Given the description of an element on the screen output the (x, y) to click on. 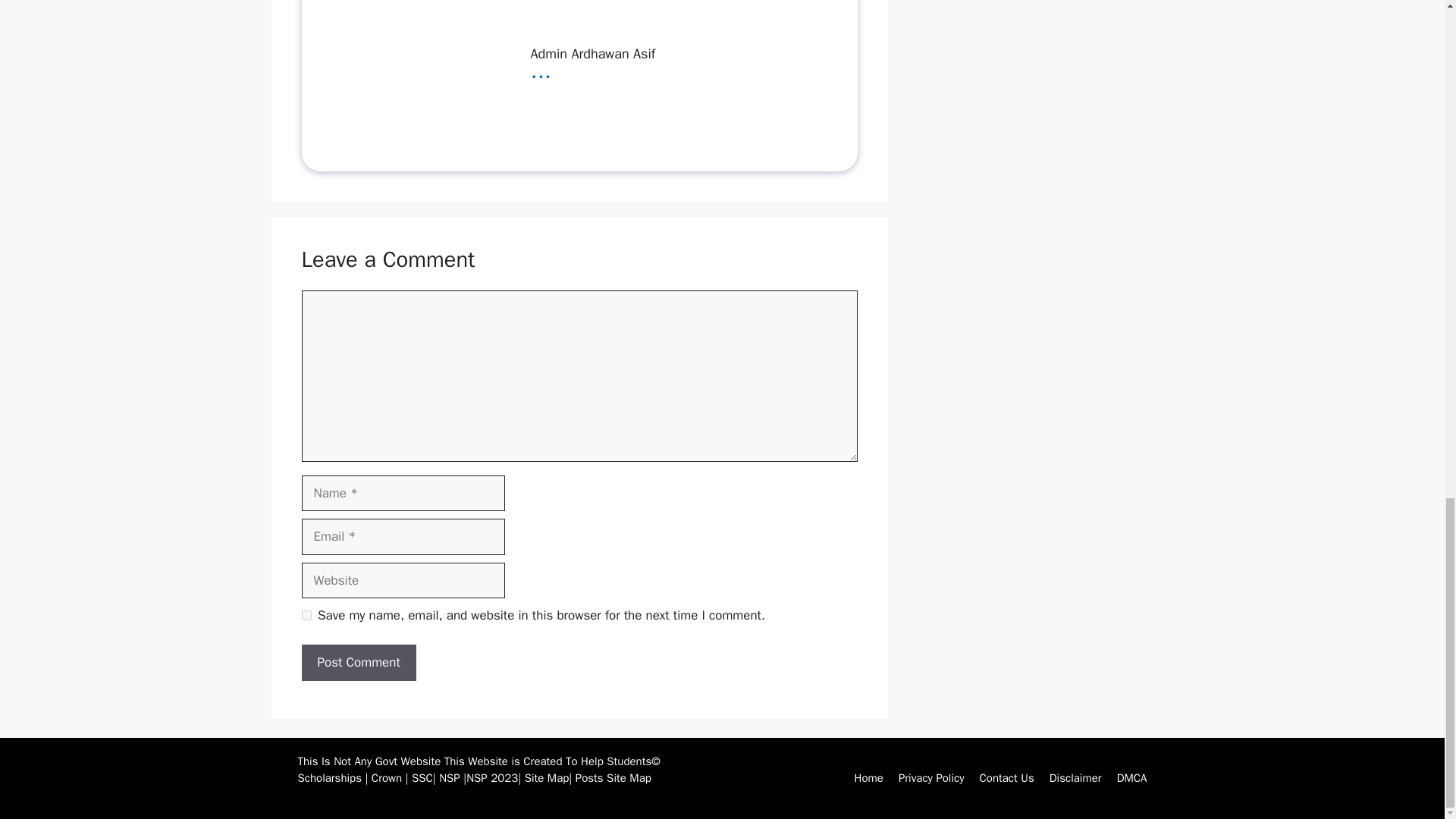
Post Comment (358, 662)
Privacy Policy (930, 777)
Disclaimer (1075, 777)
DMCA (1131, 777)
Home (868, 777)
Contact Us (1006, 777)
yes (306, 614)
Scroll back to top (1406, 251)
Post Comment (358, 662)
